Given the description of an element on the screen output the (x, y) to click on. 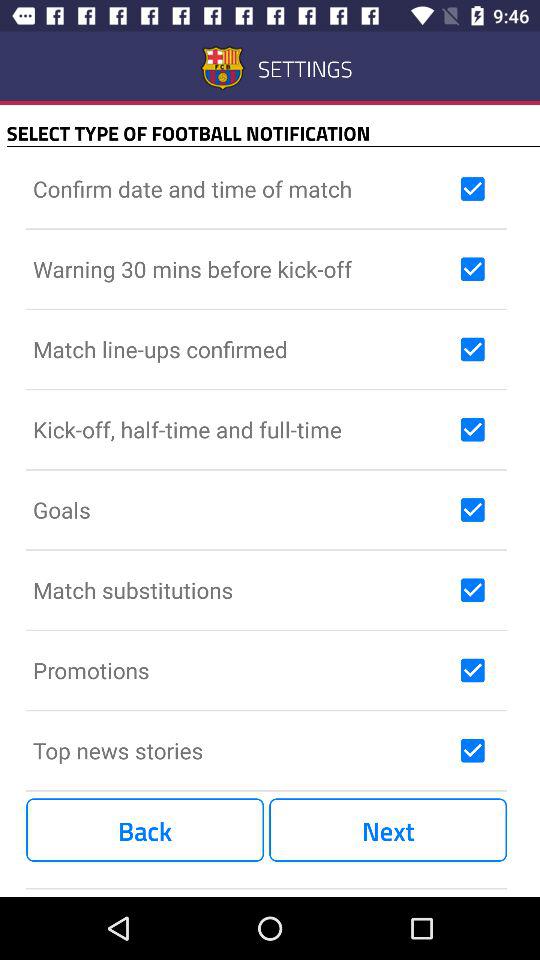
check information box (472, 670)
